Given the description of an element on the screen output the (x, y) to click on. 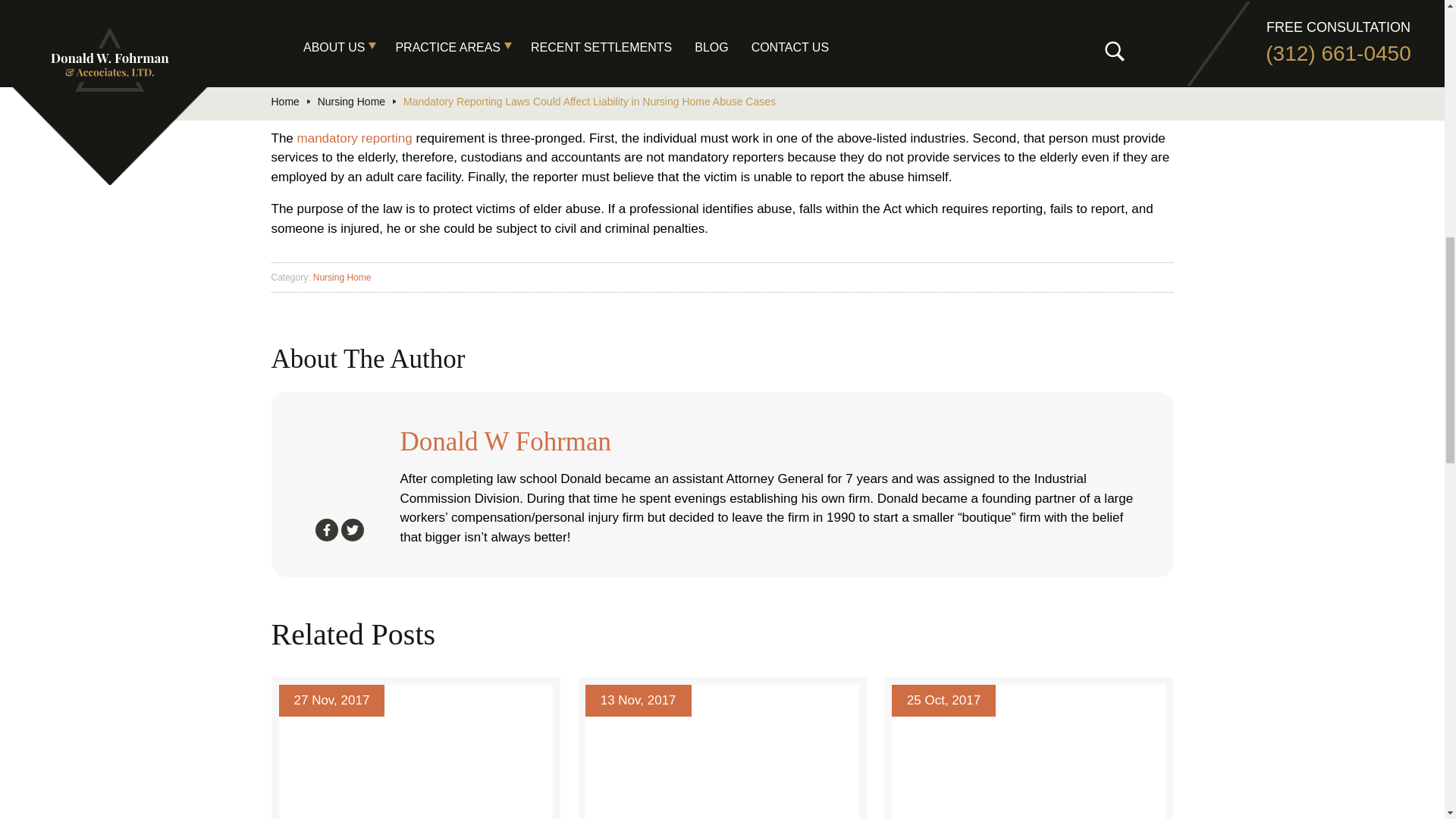
abuse (921, 29)
When Investor Greed Leads to Nursing Home Abuse 4 (1028, 751)
